Given the description of an element on the screen output the (x, y) to click on. 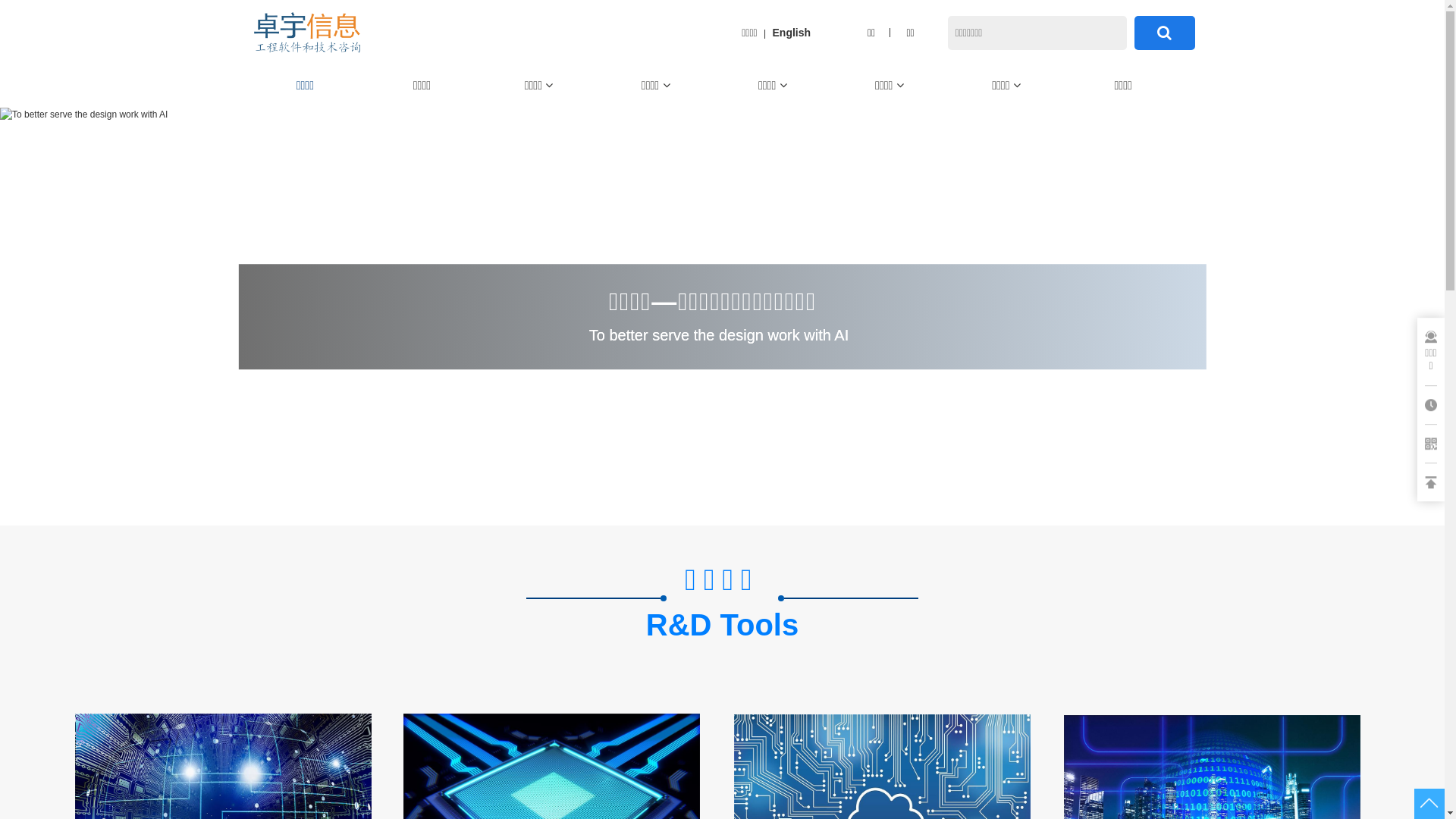
English Element type: text (791, 32)
